Given the description of an element on the screen output the (x, y) to click on. 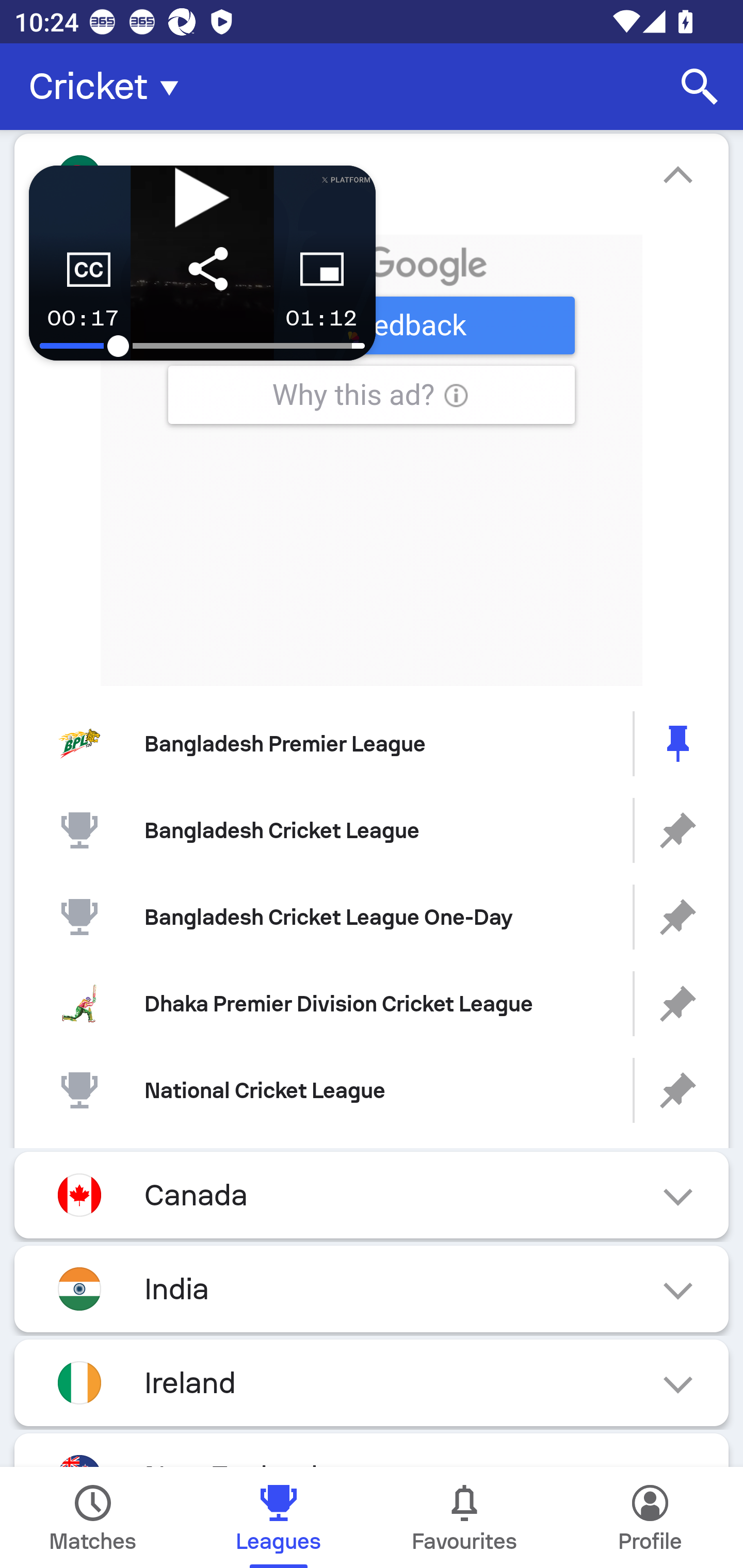
Cricket (109, 86)
Search (699, 86)
Bangladesh Premier League (371, 743)
Bangladesh Cricket League (371, 830)
Bangladesh Cricket League One-Day (371, 916)
Dhaka Premier Division Cricket League (371, 1003)
National Cricket League (371, 1090)
Canada (371, 1195)
India (371, 1288)
Ireland (371, 1382)
Matches (92, 1517)
Favourites (464, 1517)
Profile (650, 1517)
